Given the description of an element on the screen output the (x, y) to click on. 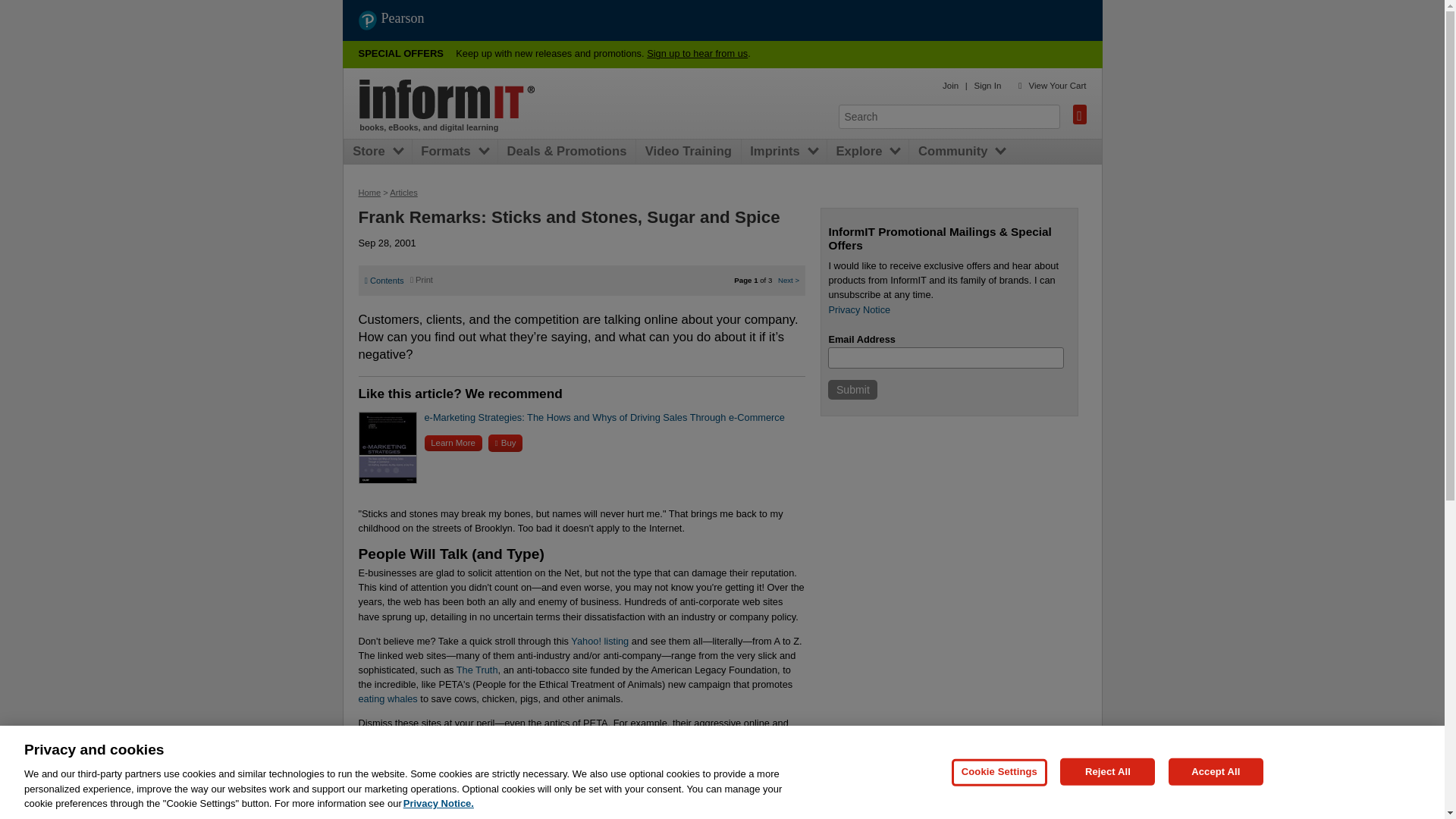
Privacy Notice (858, 309)
View Your Cart (1057, 85)
Home (446, 98)
Join (950, 85)
Yahoo! listing (599, 641)
Learn More (453, 442)
Store (372, 151)
Submit (852, 389)
Articles (403, 192)
Print (421, 279)
The Truth (477, 669)
Sign In (987, 85)
Sign up to hear from us (697, 52)
eating whales (387, 698)
